Given the description of an element on the screen output the (x, y) to click on. 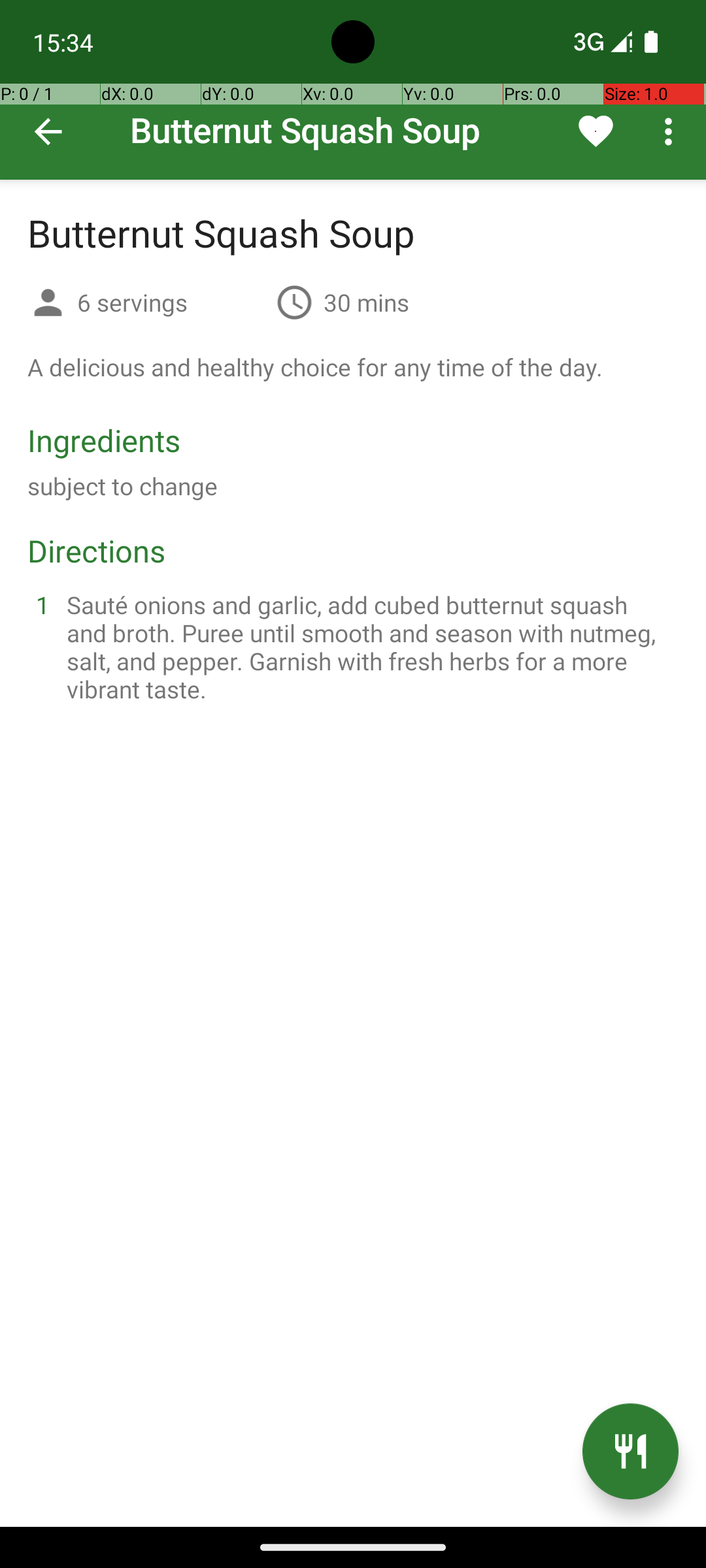
Butternut Squash Soup Element type: android.widget.FrameLayout (353, 89)
Cook Element type: android.widget.ImageButton (630, 1451)
Remove from favorites Element type: android.widget.Button (595, 131)
Servings Element type: android.widget.ImageView (47, 303)
6 servings Element type: android.widget.TextView (170, 301)
30 mins Element type: android.widget.TextView (366, 301)
A delicious and healthy choice for any time of the day. Element type: android.widget.TextView (314, 366)
subject to change Element type: android.widget.TextView (122, 485)
Directions Element type: android.widget.TextView (96, 550)
Sauté onions and garlic, add cubed butternut squash and broth. Puree until smooth and season with nutmeg, salt, and pepper. Garnish with fresh herbs for a more vibrant taste. Element type: android.widget.TextView (368, 646)
